Given the description of an element on the screen output the (x, y) to click on. 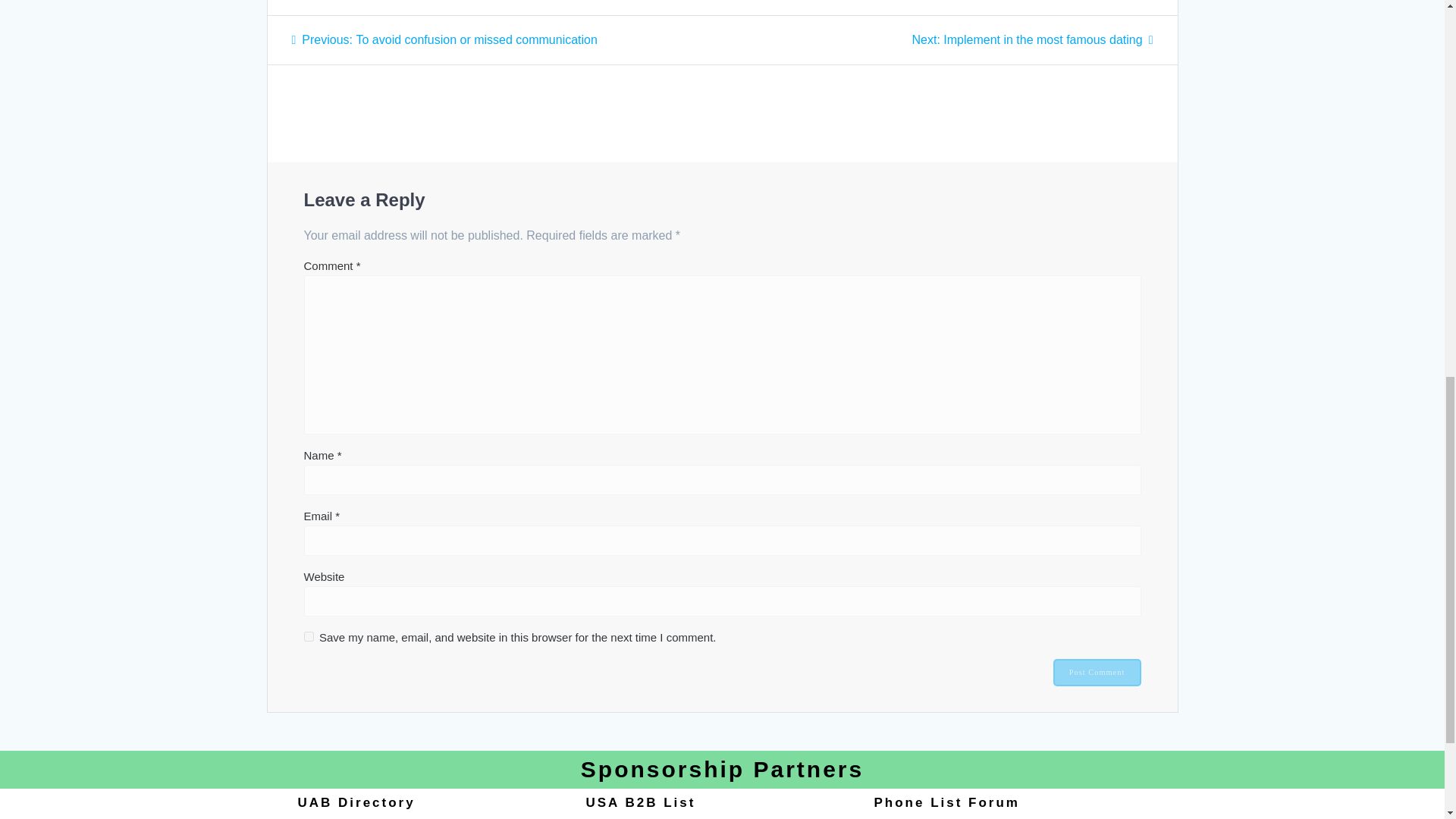
UAB Directory (355, 802)
Post Comment (443, 39)
yes (1096, 672)
USA B2B List (1032, 39)
Post Comment (307, 636)
